Given the description of an element on the screen output the (x, y) to click on. 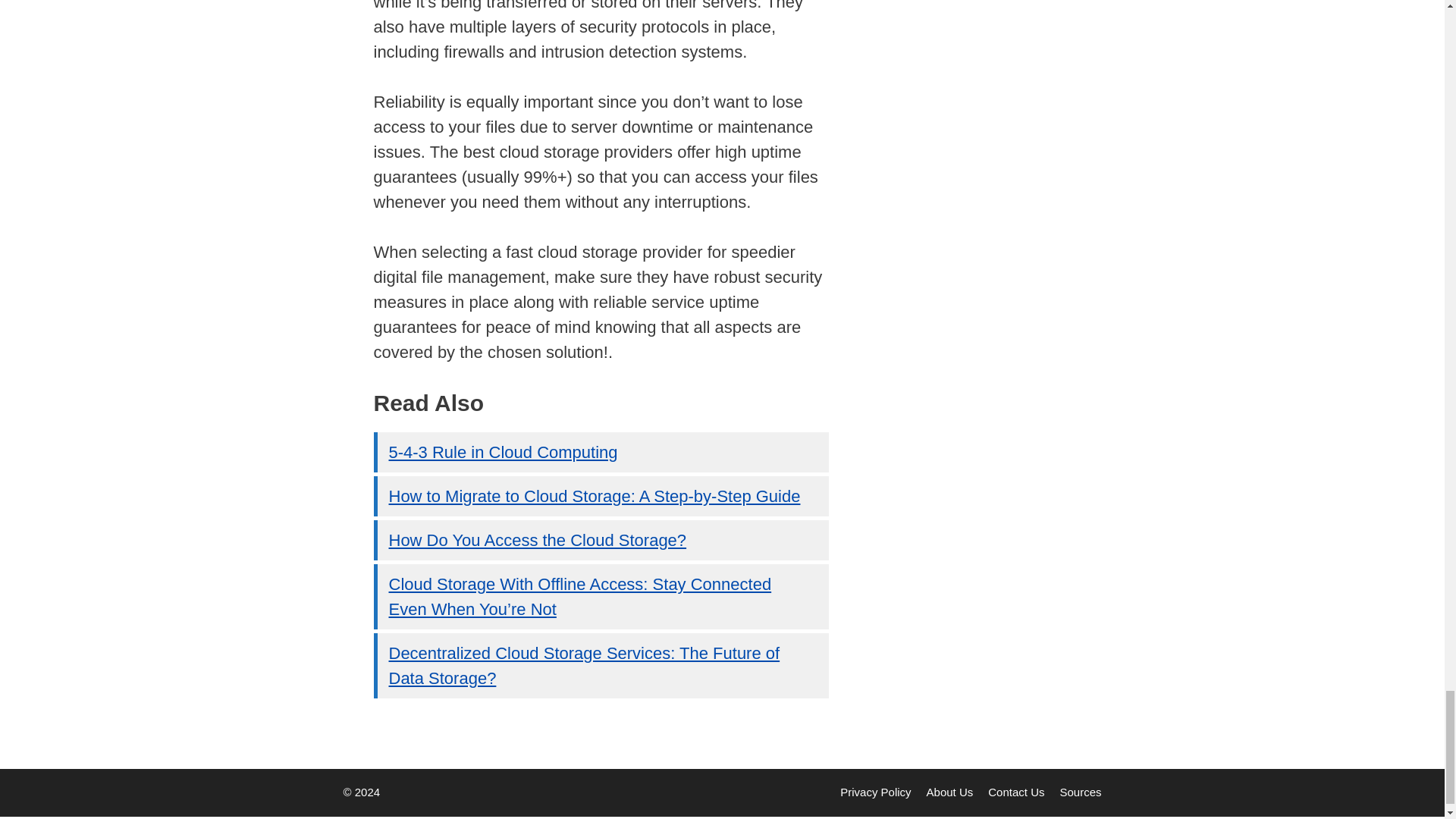
5-4-3 Rule in Cloud Computing (502, 452)
About Us (950, 791)
Contact Us (1015, 791)
5-4-3 Rule in Cloud Computing (502, 452)
Sources (1079, 791)
Privacy Policy (875, 791)
How to Migrate to Cloud Storage: A Step-by-Step Guide (593, 496)
How Do You Access the Cloud Storage? (536, 539)
How to Migrate to Cloud Storage: A Step-by-Step Guide (593, 496)
How Do You Access the Cloud Storage? (536, 539)
